Given the description of an element on the screen output the (x, y) to click on. 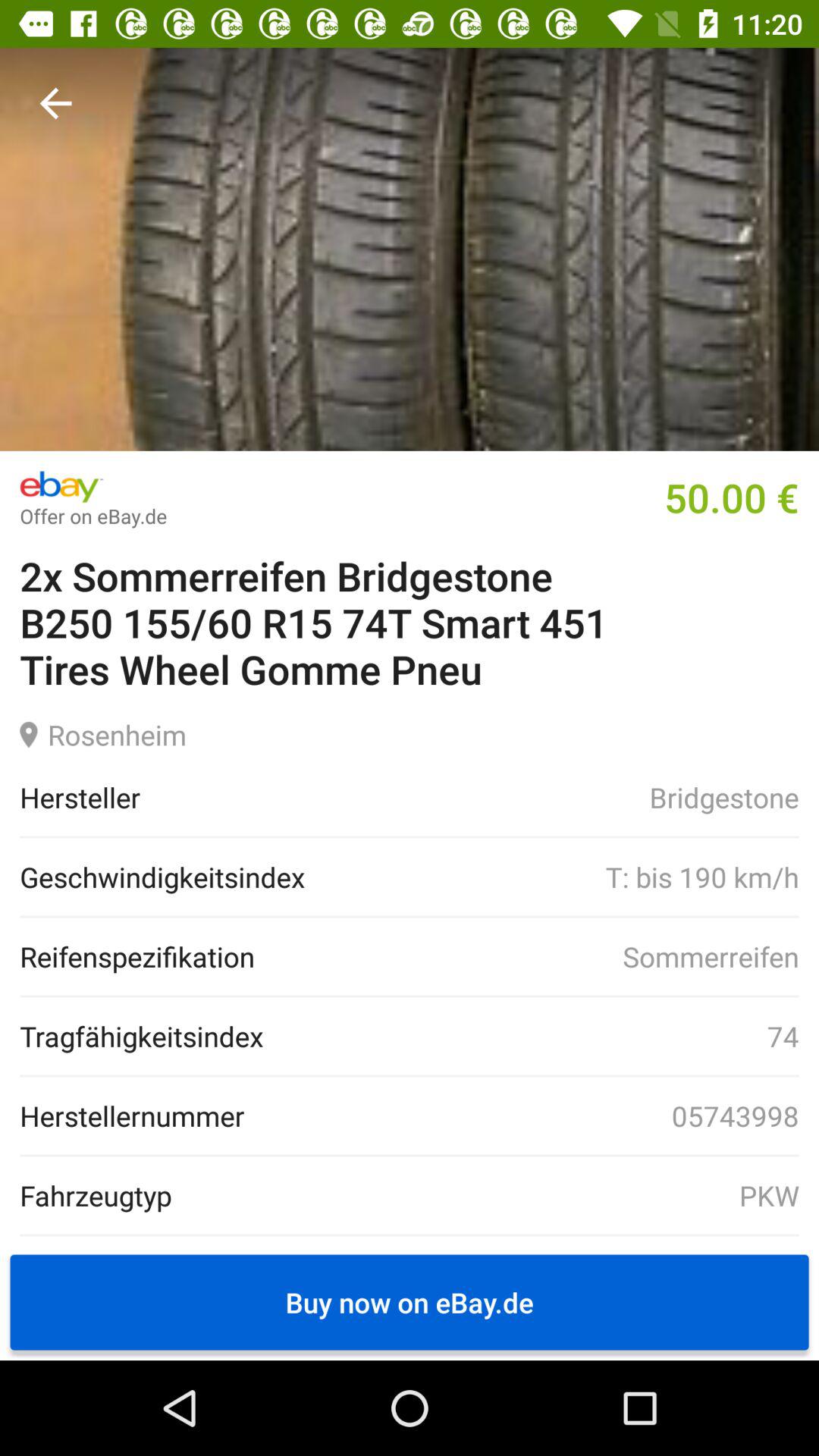
press item to the left of sommerreifen icon (136, 956)
